Given the description of an element on the screen output the (x, y) to click on. 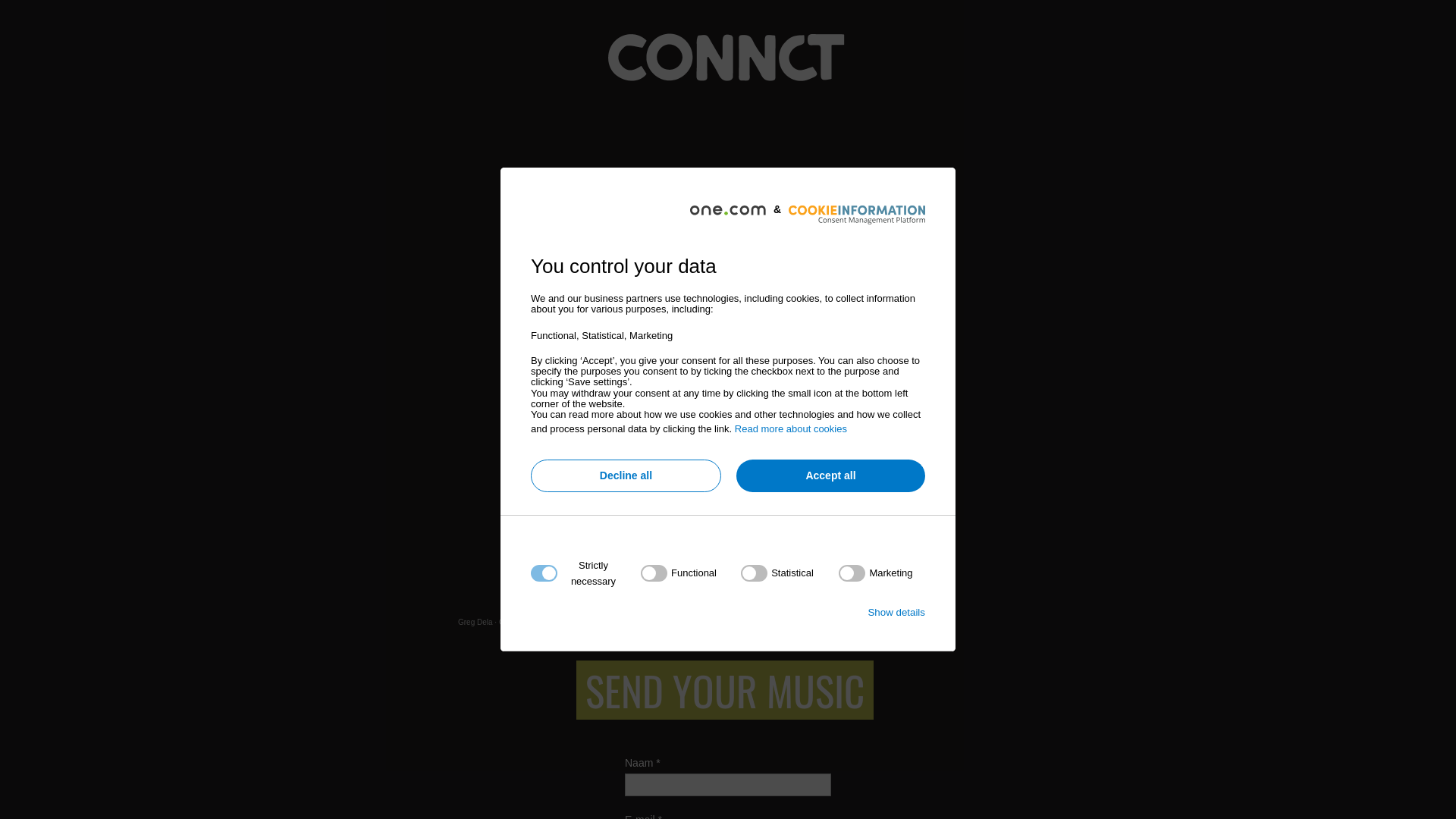
Strictly necessary Element type: text (723, 665)
Greg Dela Element type: text (475, 622)
Functional Element type: text (723, 756)
Show details Element type: text (896, 612)
Accept all Element type: text (830, 475)
on Element type: text (875, 573)
Greg Dela Presents: CONNCT Radio Element type: text (561, 622)
on Element type: text (776, 573)
Decline all Element type: text (625, 475)
Read more about cookies Element type: text (790, 428)
on Element type: text (678, 573)
